Given the description of an element on the screen output the (x, y) to click on. 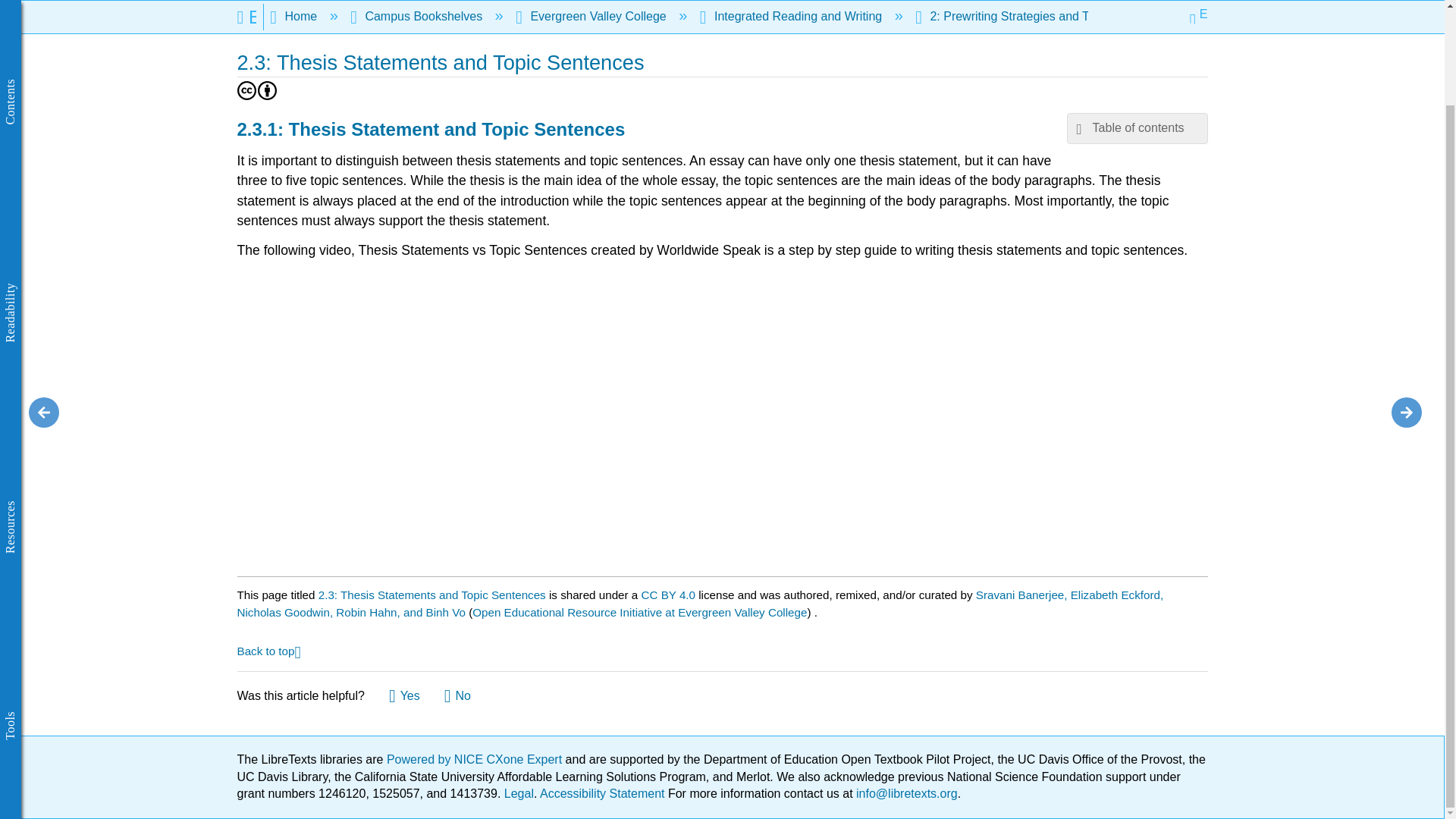
CC (246, 90)
Jump back to top of this article (267, 650)
BY (266, 90)
